Given the description of an element on the screen output the (x, y) to click on. 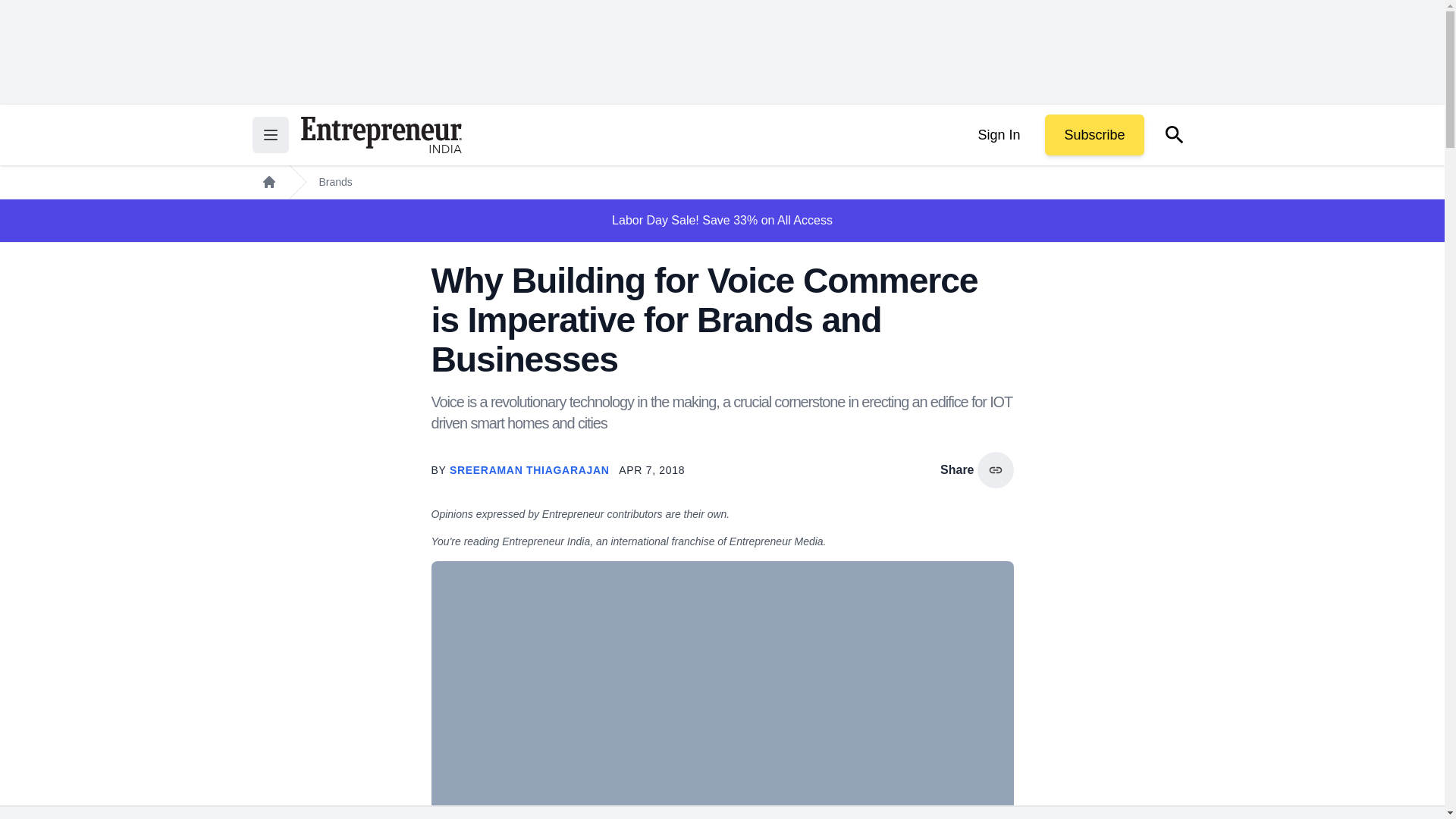
Return to the home page (380, 135)
copy (994, 470)
Sign In (998, 134)
Subscribe (1093, 134)
